Given the description of an element on the screen output the (x, y) to click on. 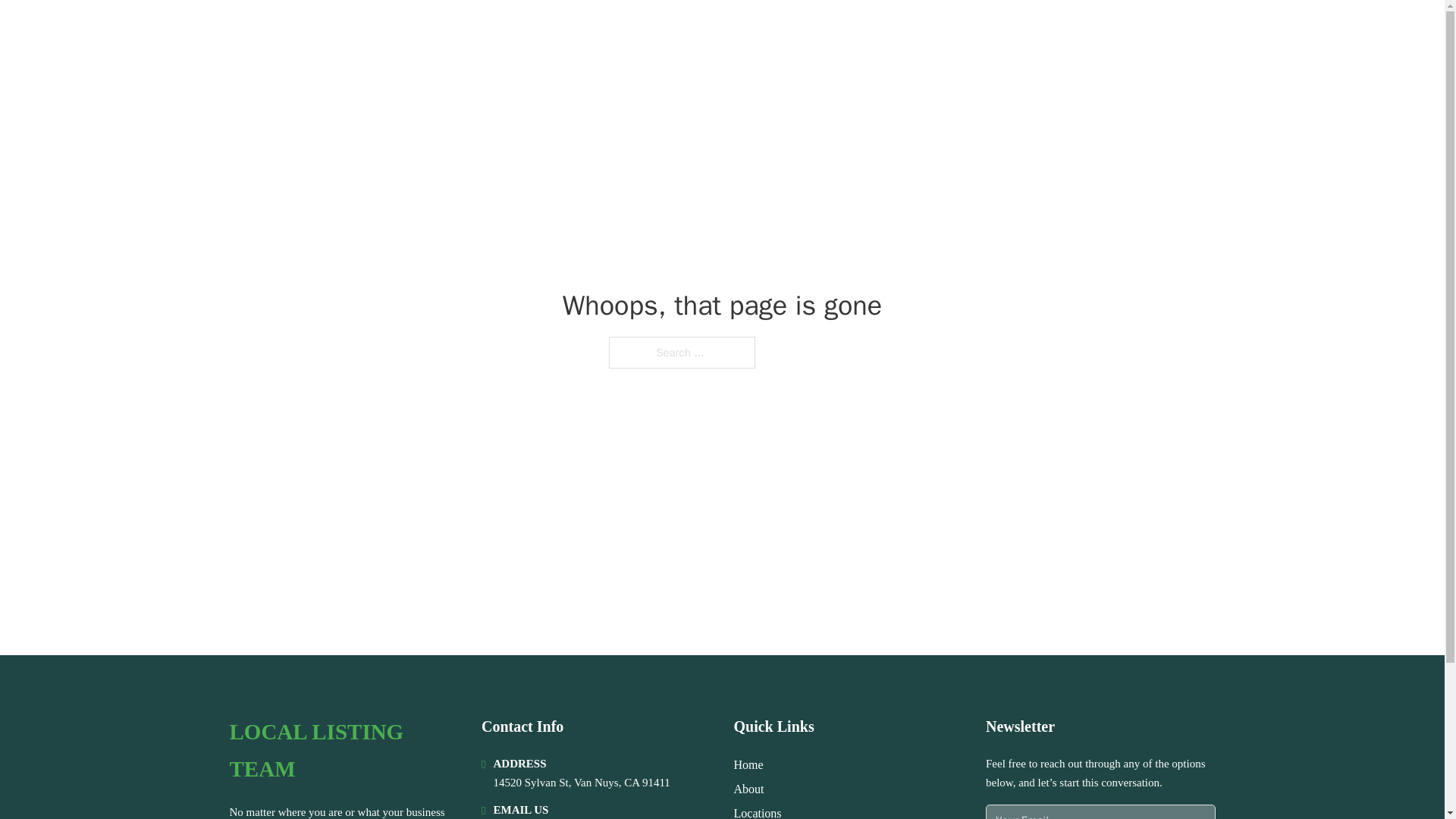
LOCAL LISTING TEAM (363, 31)
Home (747, 764)
LOCAL LISTING TEAM (343, 750)
About (748, 788)
Locations (757, 811)
HOME (1025, 31)
LOCATIONS (1098, 31)
